Given the description of an element on the screen output the (x, y) to click on. 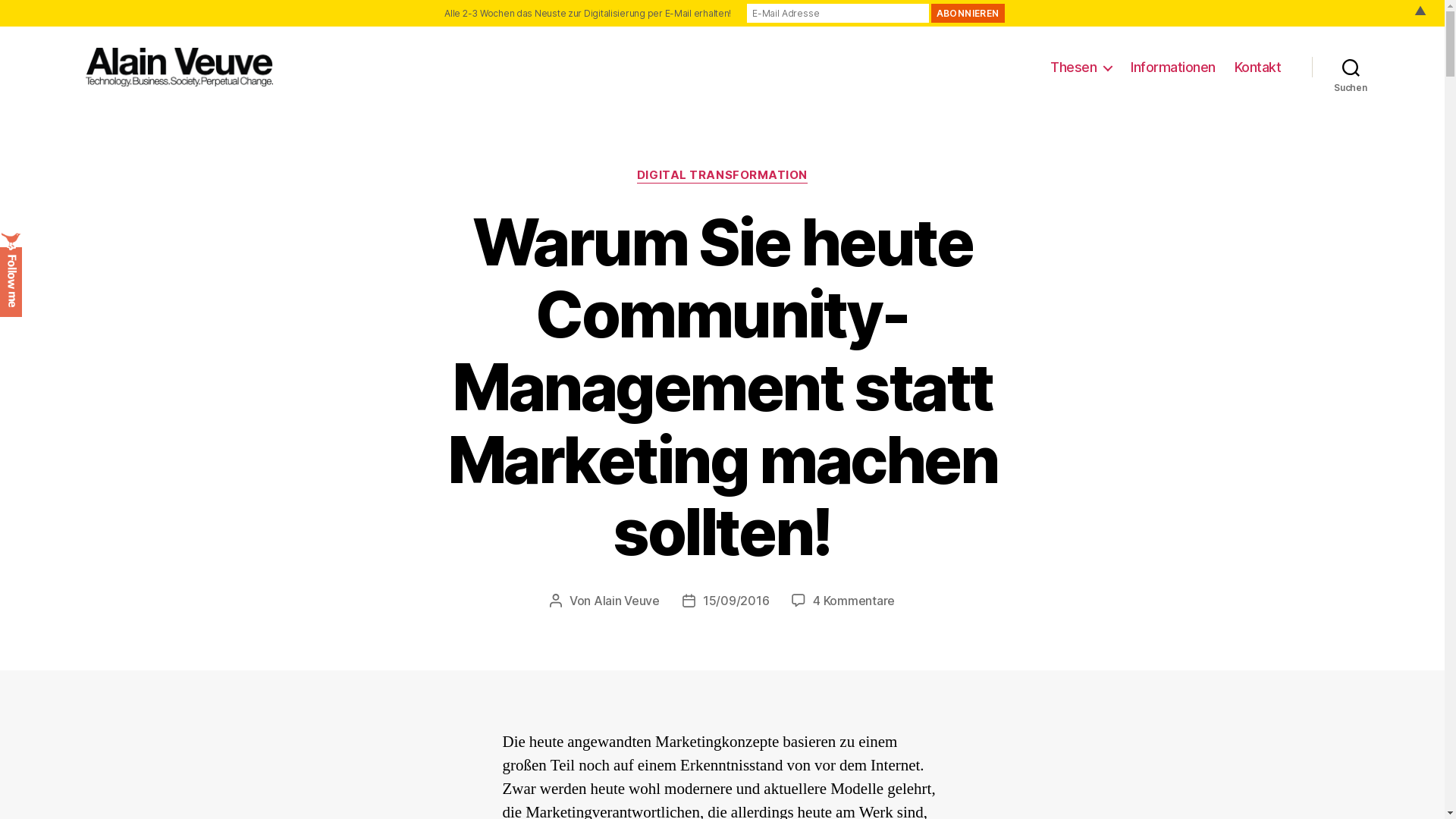
Abonnieren Element type: text (967, 12)
15/09/2016 Element type: text (735, 600)
Kontakt Element type: text (1257, 67)
Informationen Element type: text (1172, 67)
Thesen Element type: text (1080, 67)
DIGITAL TRANSFORMATION Element type: text (722, 175)
Alain Veuve Element type: text (626, 600)
Suchen Element type: text (1350, 66)
